Given the description of an element on the screen output the (x, y) to click on. 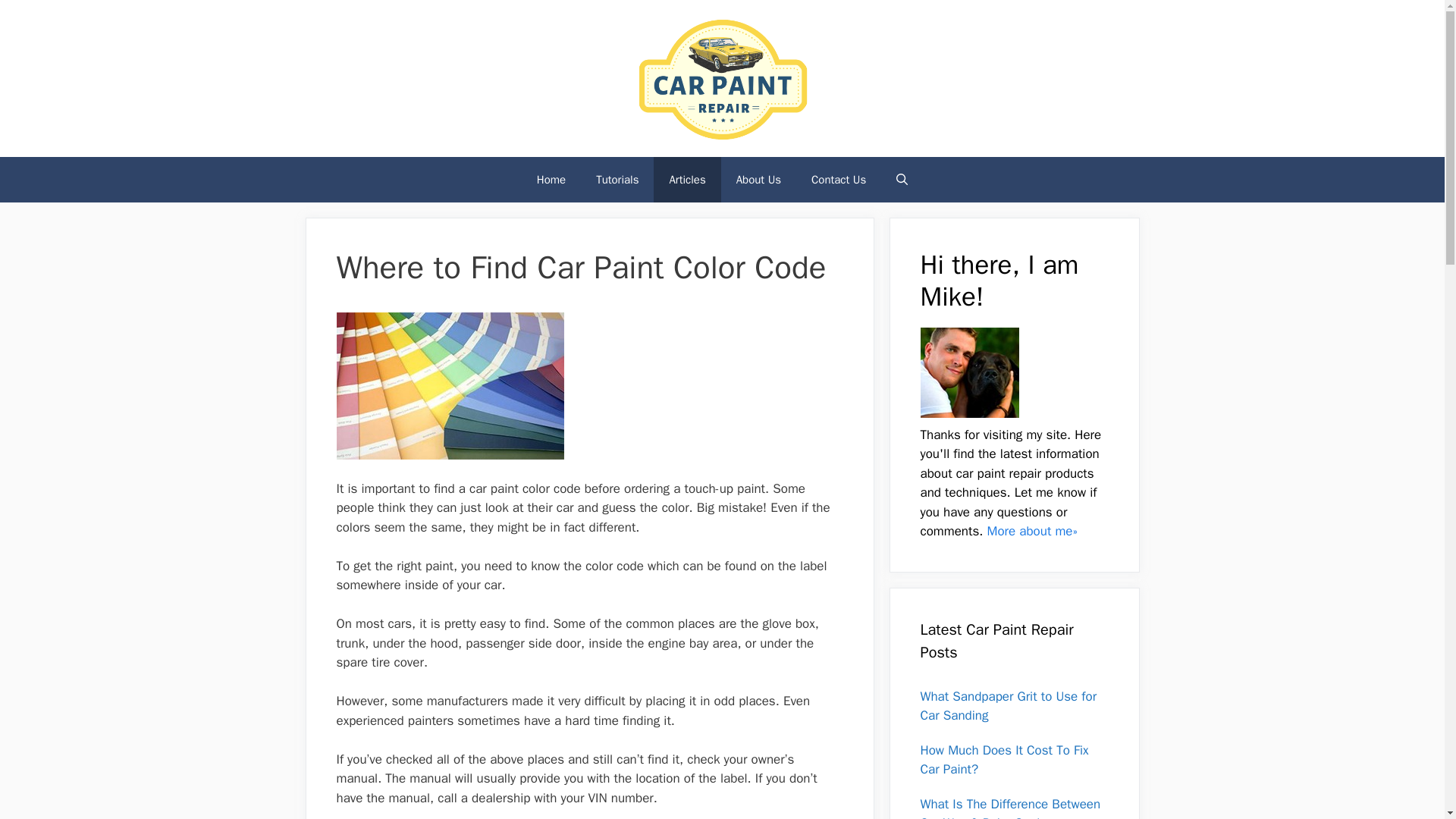
Contact Us (838, 179)
Tutorials (616, 179)
About Us (758, 179)
Articles (686, 179)
Home (550, 179)
